Given the description of an element on the screen output the (x, y) to click on. 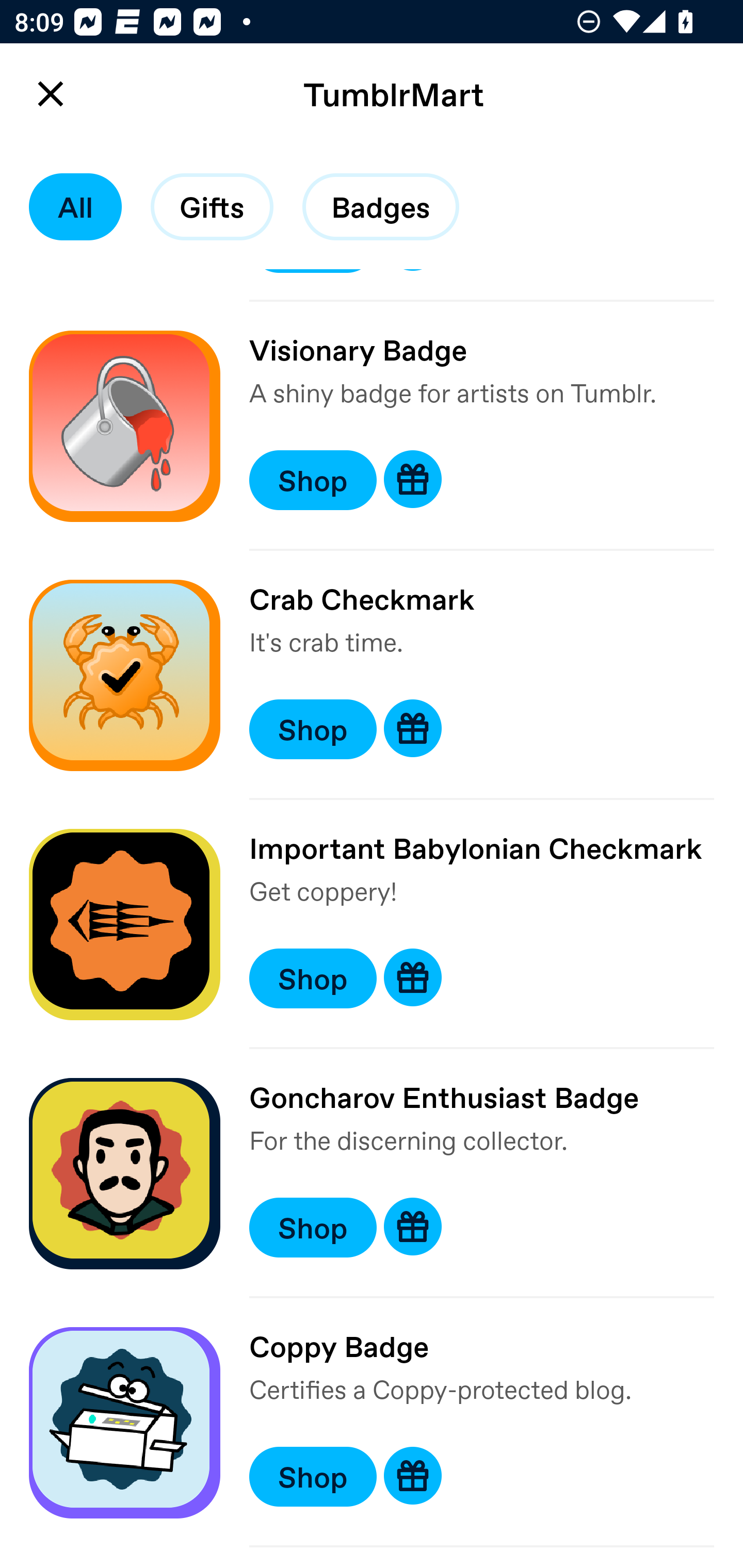
All (74, 206)
Gifts (211, 206)
Badges (380, 206)
Shop (312, 479)
Crab Checkmark It's crab time. Shop (371, 674)
Shop (312, 728)
Important Babylonian Checkmark Get coppery! Shop (371, 923)
Shop (312, 978)
Shop (312, 1227)
Coppy Badge Certifies a Coppy-protected blog. Shop (371, 1422)
Shop (312, 1476)
